Given the description of an element on the screen output the (x, y) to click on. 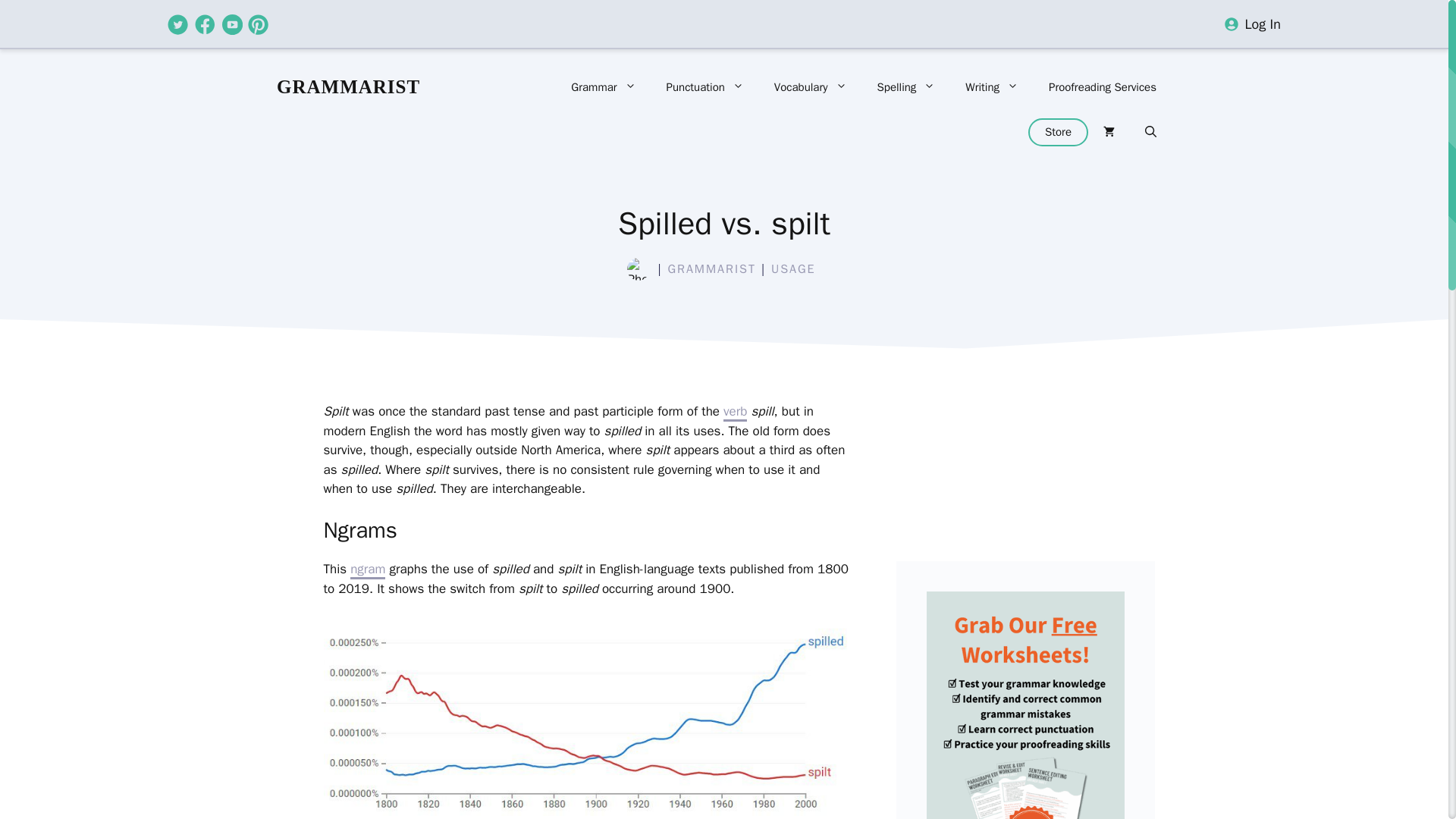
View your shopping cart (1108, 132)
Log In (1262, 23)
spilled-spilt-english (586, 717)
Grammar (603, 86)
GRAMMARIST (348, 86)
Punctuation (704, 86)
Vocabulary (809, 86)
